Given the description of an element on the screen output the (x, y) to click on. 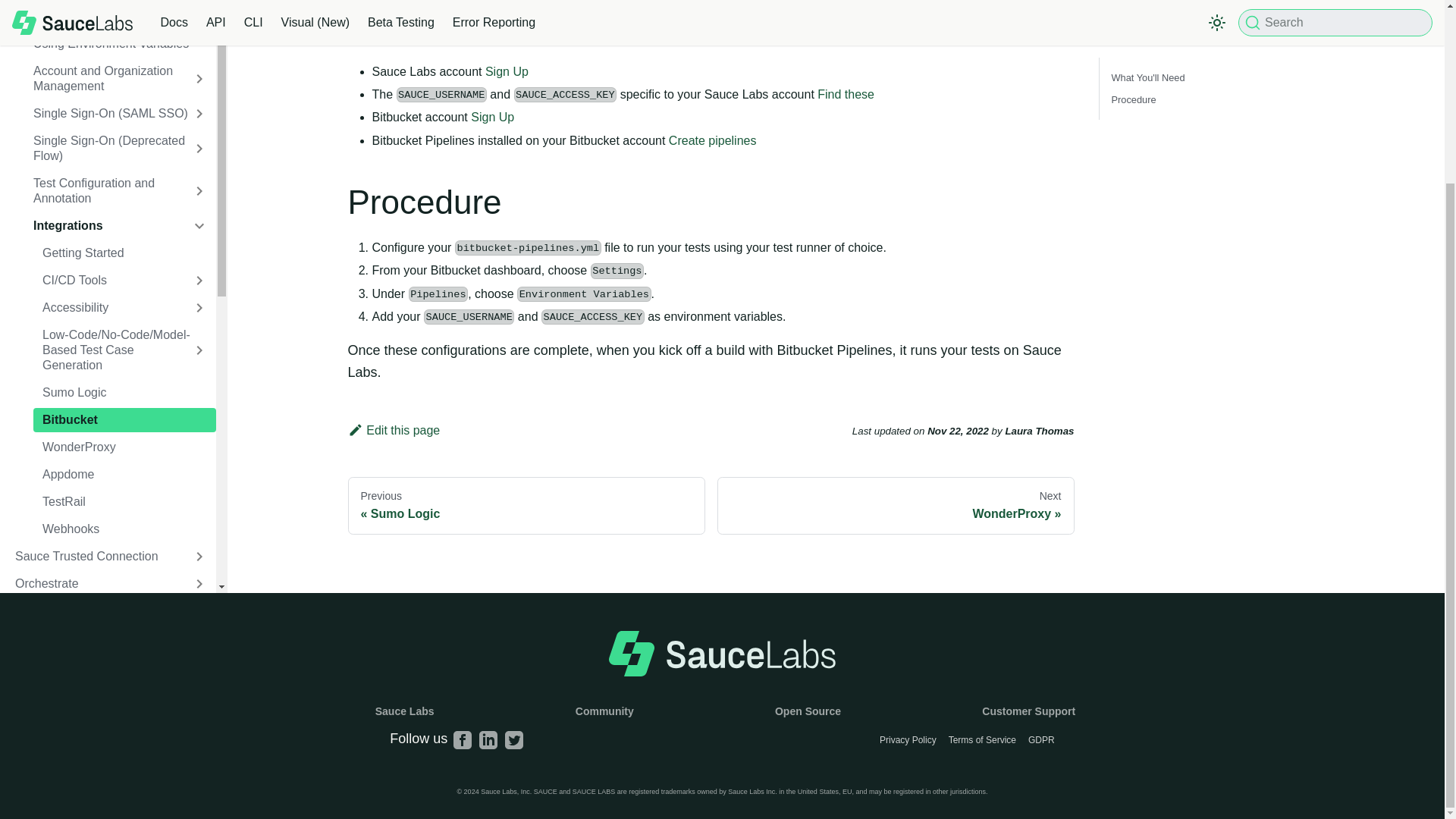
Data Center Endpoints (119, 16)
Bitbucket (124, 419)
Mobile Apps (110, 638)
TestRail (124, 501)
Getting Started (124, 252)
Account and Organization Management (119, 78)
Test Configuration and Annotation (119, 190)
TestFairy (110, 610)
Using Environment Variables (119, 43)
Accessibility (124, 307)
